Given the description of an element on the screen output the (x, y) to click on. 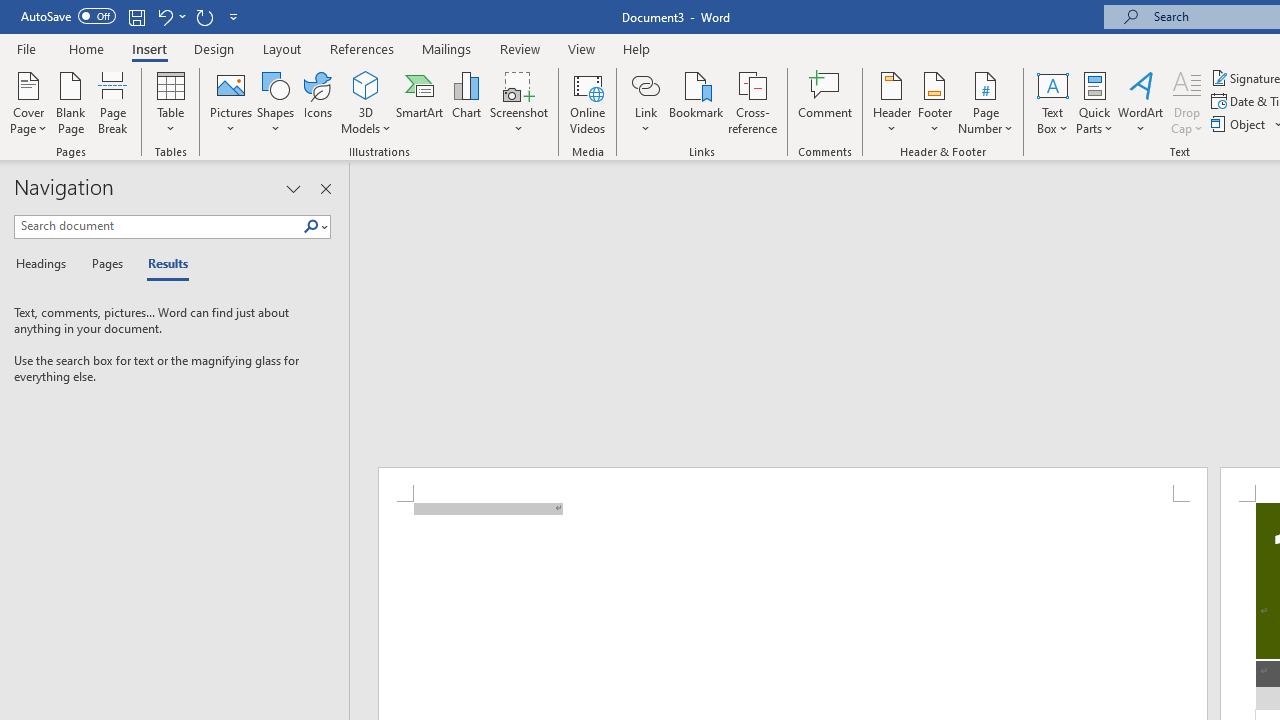
3D Models (366, 102)
Chart... (466, 102)
Online Videos... (588, 102)
Bookmark... (695, 102)
Cross-reference... (752, 102)
Quick Parts (1094, 102)
3D Models (366, 84)
Cover Page (28, 102)
